Given the description of an element on the screen output the (x, y) to click on. 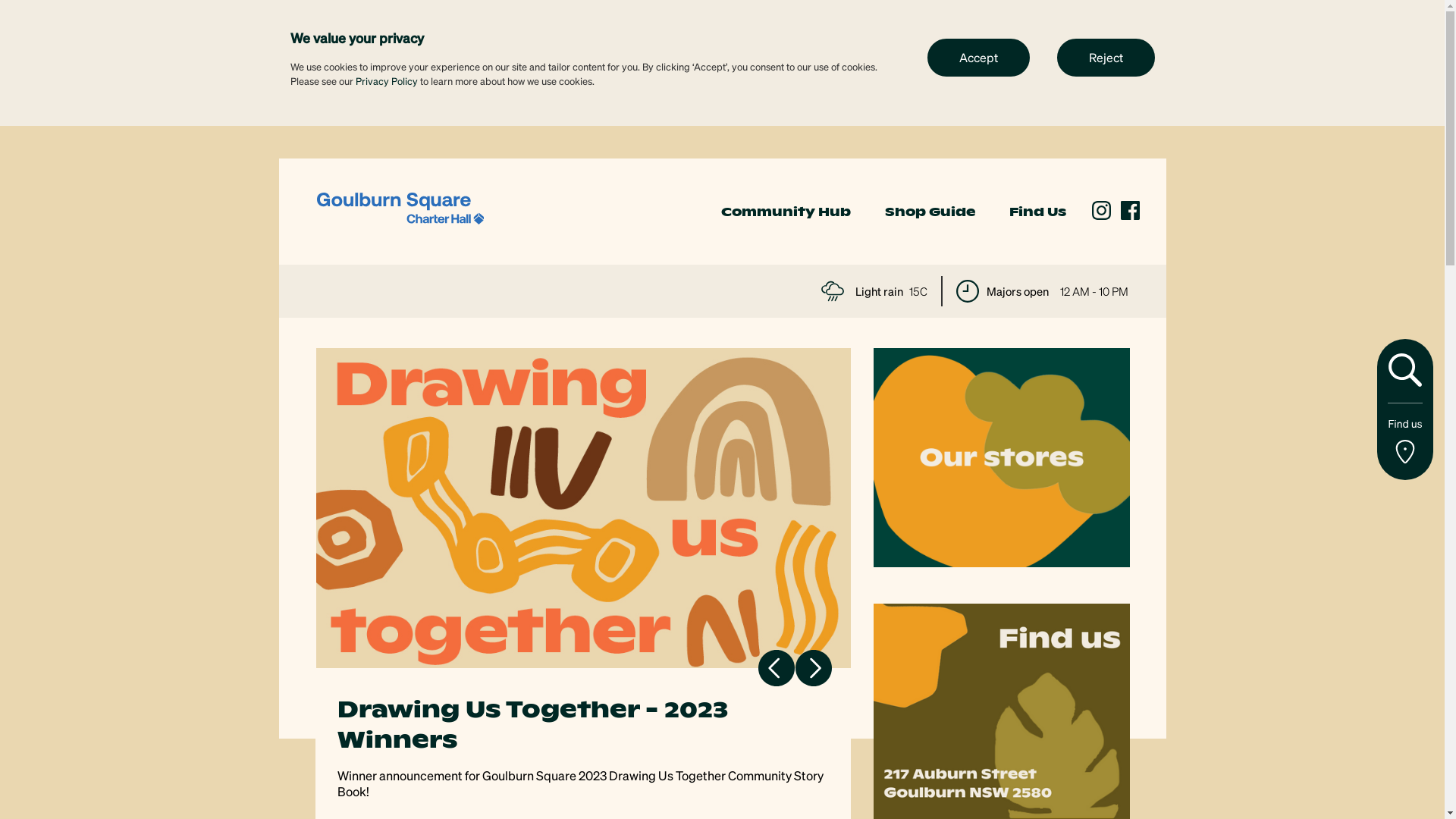
instagram Element type: hover (1101, 209)
Shop Guide Element type: text (929, 211)
Reject Element type: text (1105, 56)
Accept Element type: text (977, 56)
Find Us Element type: text (1036, 211)
facebook Element type: hover (1129, 209)
Next Element type: text (812, 667)
Previous Element type: text (776, 667)
majors open
12 AM - 10 PM Element type: text (1041, 290)
Privacy Policy Element type: text (385, 80)
Community Hub Element type: text (785, 211)
time Element type: hover (966, 290)
